Given the description of an element on the screen output the (x, y) to click on. 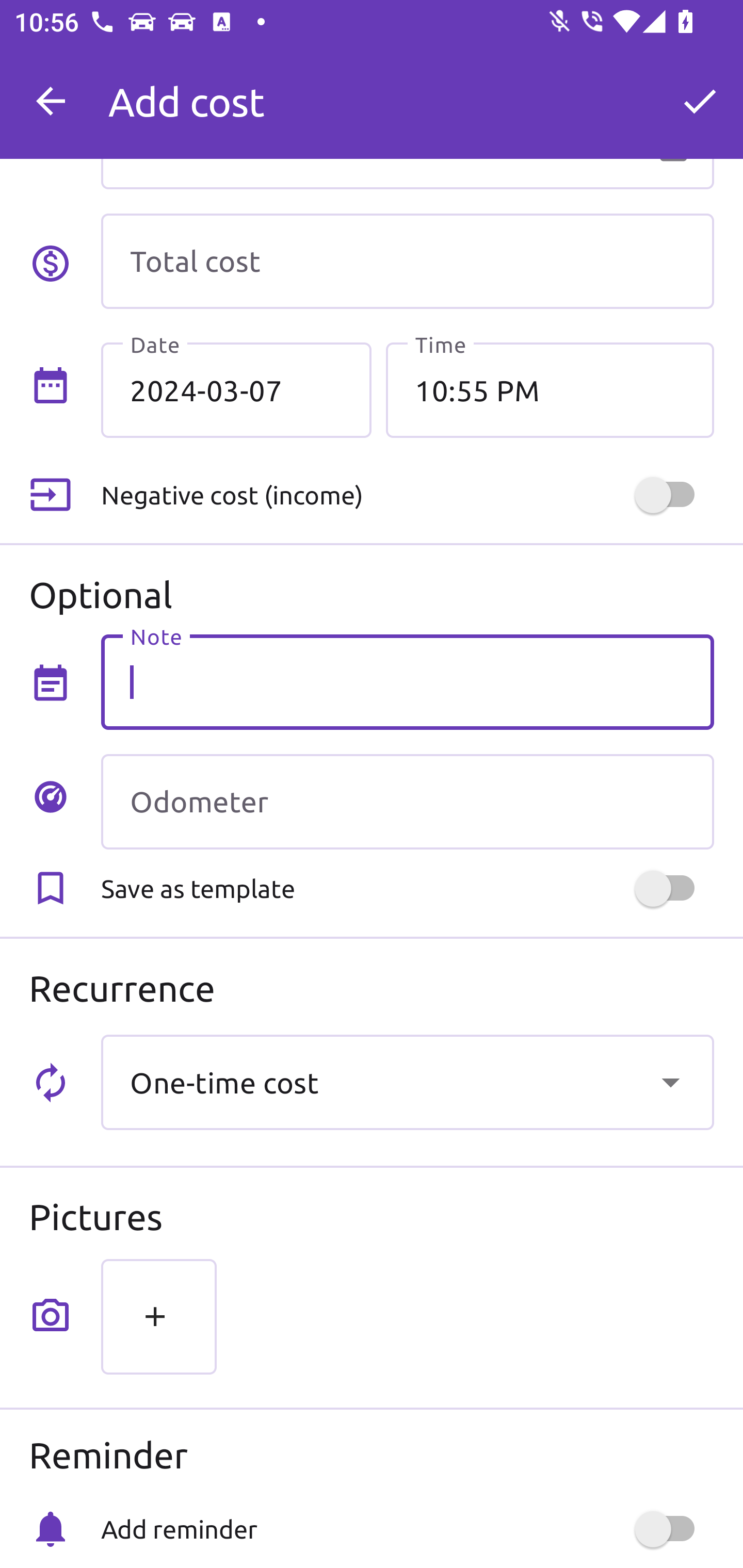
M My Car 0 km (407, 92)
Navigate up (50, 101)
OK (699, 101)
Total cost  (407, 260)
2024-03-07 (236, 389)
10:55 PM (549, 389)
Negative cost (income) (407, 494)
Note (407, 682)
Odometer (407, 801)
Save as template (407, 887)
One-time cost (407, 1082)
Show dropdown menu (670, 1081)
Add reminder (407, 1529)
